Given the description of an element on the screen output the (x, y) to click on. 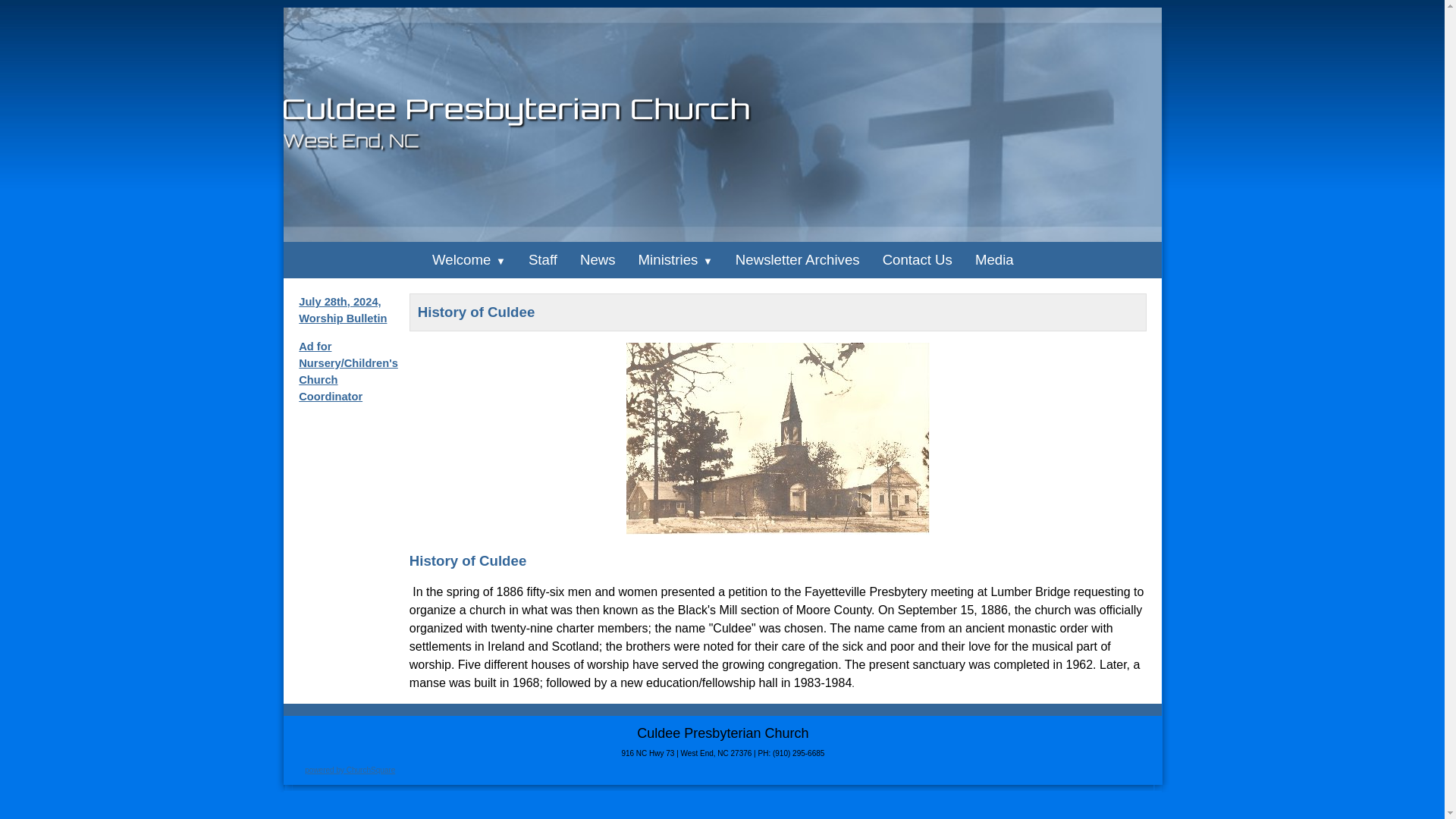
News (598, 259)
powered by ChurchSquare (349, 768)
Staff (542, 259)
Contact Us (916, 259)
Media (994, 259)
Newsletter Archives (796, 259)
July 28th, 2024, Worship Bulletin (342, 309)
Ministries (675, 259)
Welcome (468, 259)
